Given the description of an element on the screen output the (x, y) to click on. 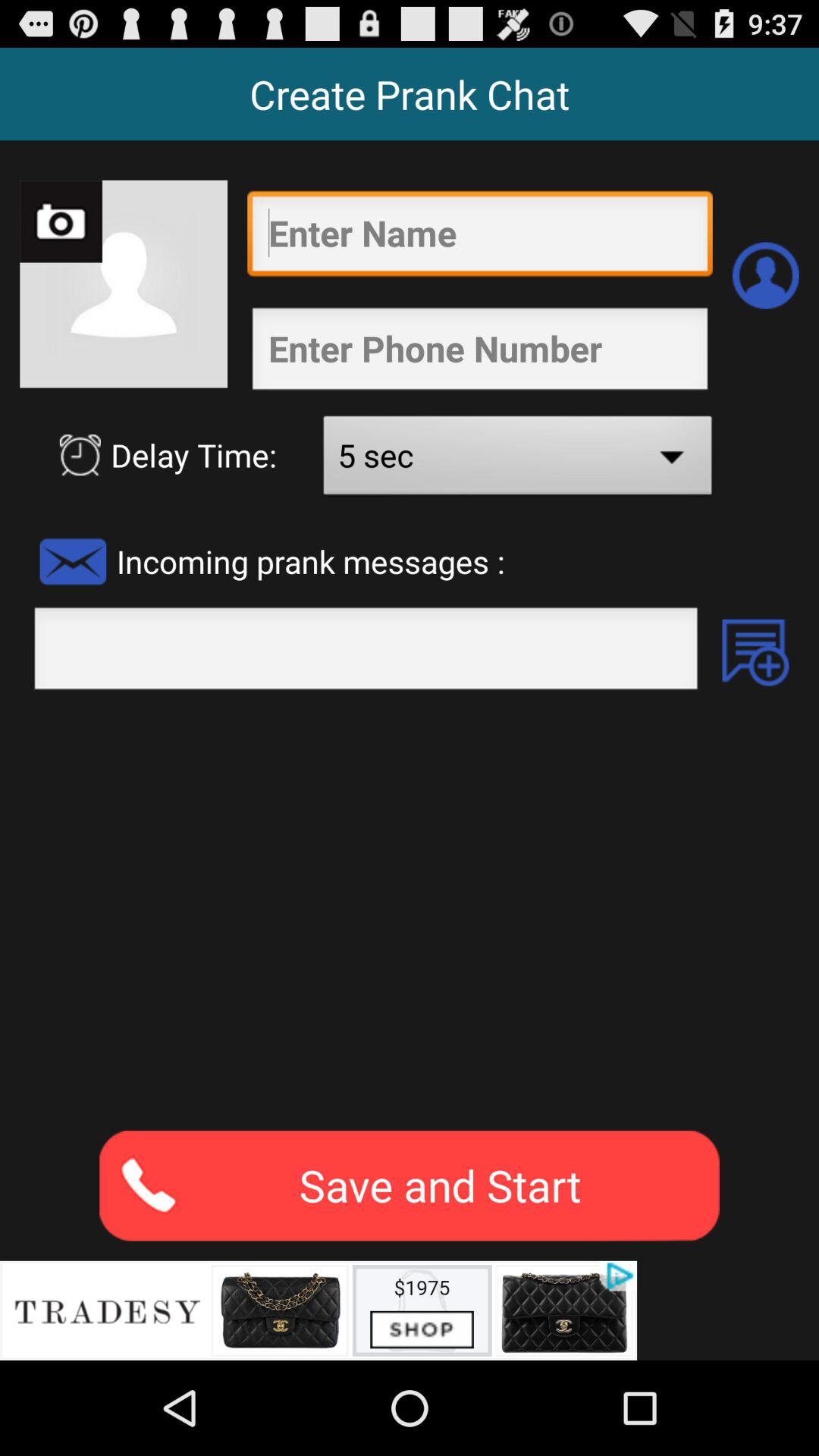
phone number box (479, 352)
